Given the description of an element on the screen output the (x, y) to click on. 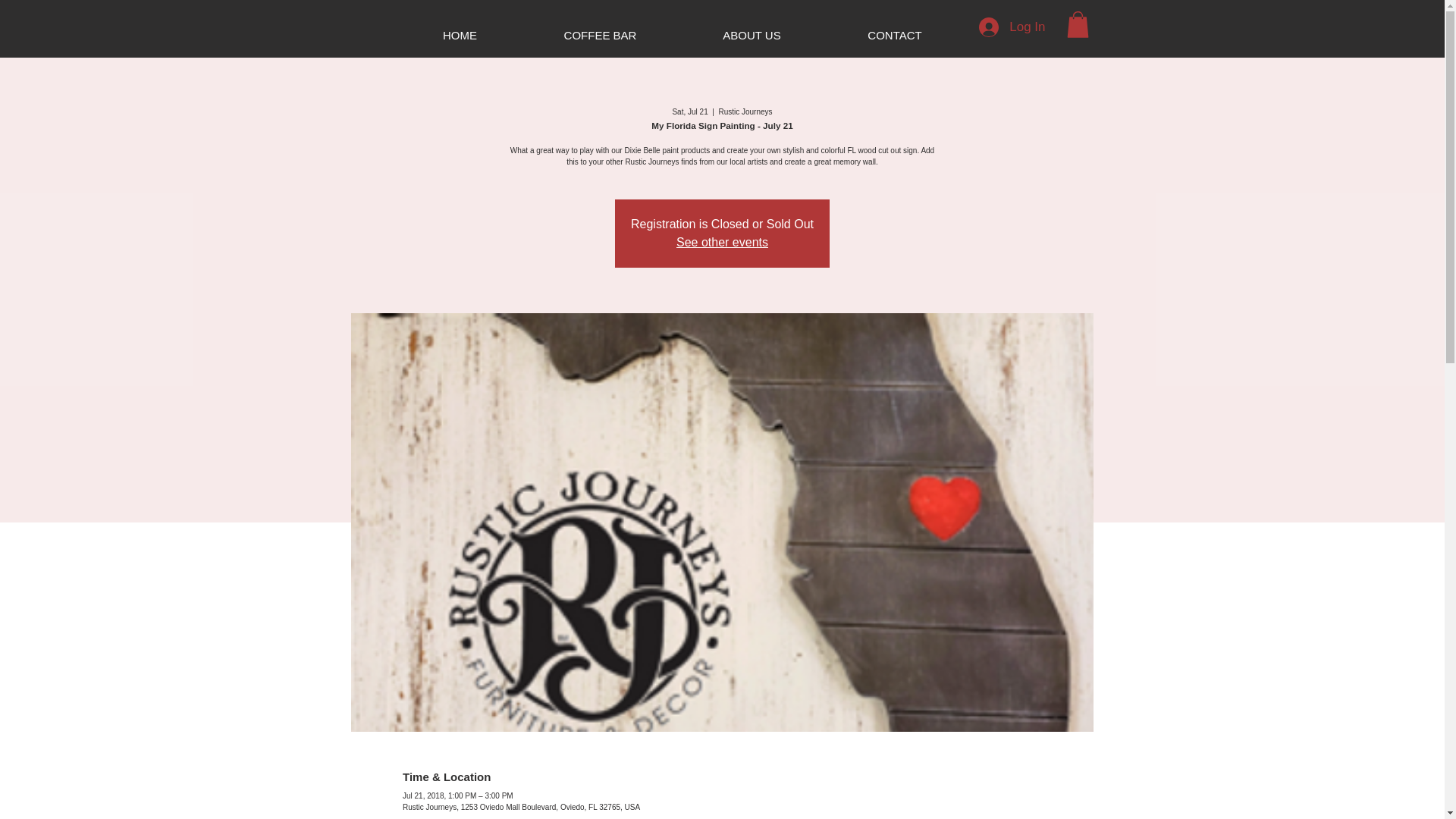
CONTACT (894, 35)
See other events (722, 241)
HOME (459, 35)
ABOUT US (751, 35)
Log In (1011, 27)
COFFEE BAR (599, 35)
